Given the description of an element on the screen output the (x, y) to click on. 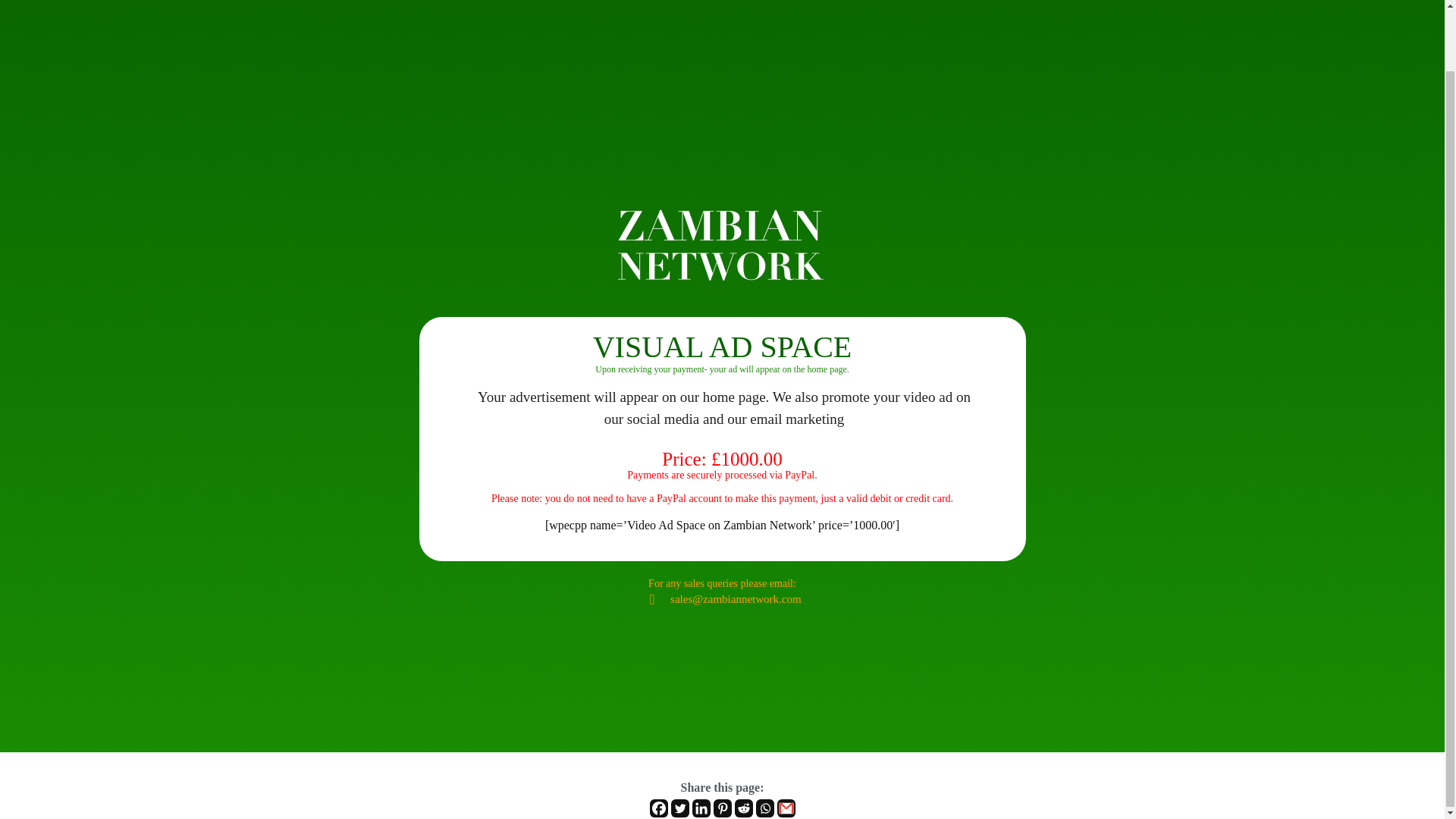
Linkedin (700, 808)
Reddit (742, 808)
Facebook (657, 808)
Whatsapp (764, 808)
Google Gmail (785, 808)
Twitter (678, 808)
Pinterest (721, 808)
